Given the description of an element on the screen output the (x, y) to click on. 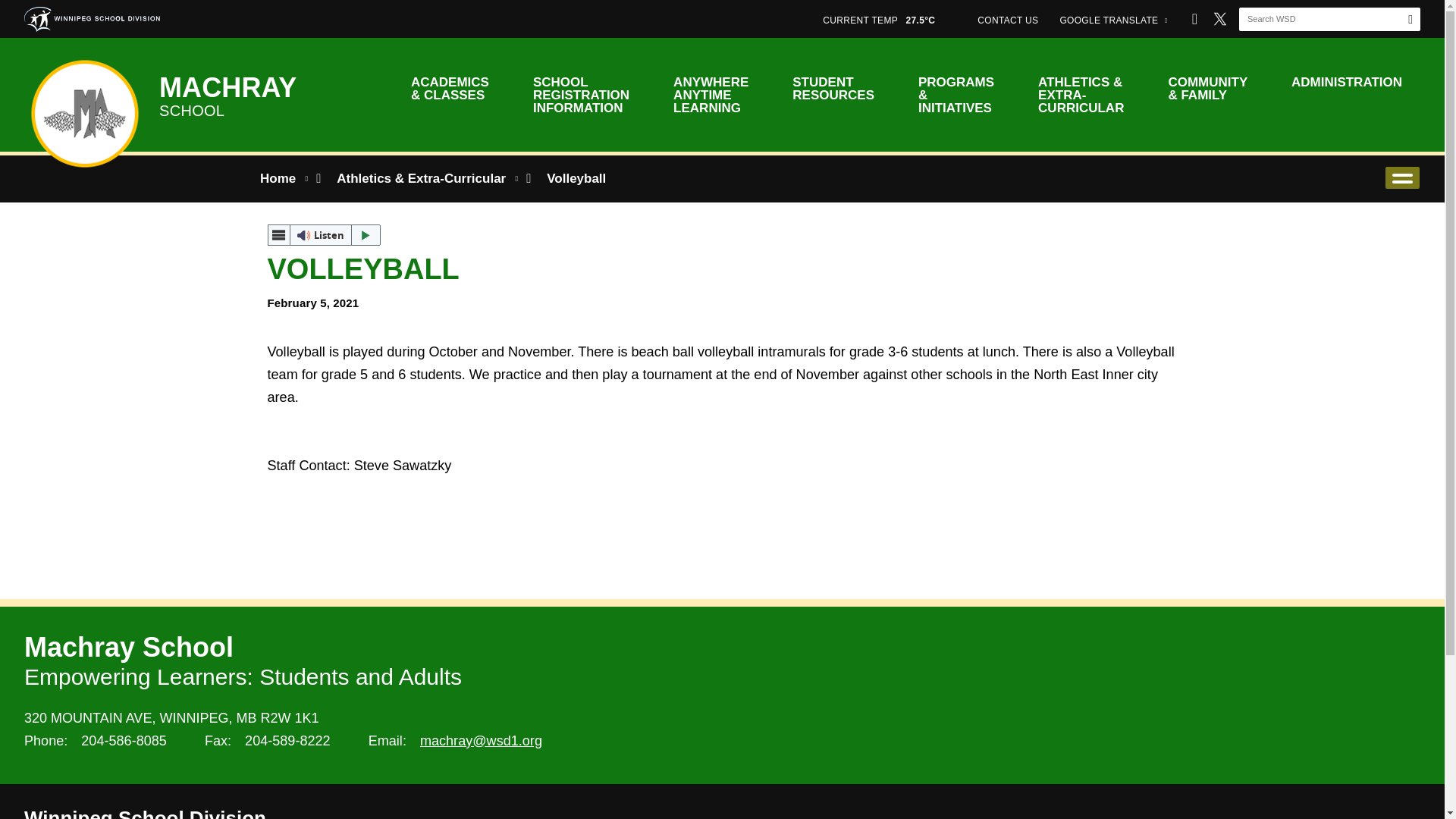
Listen to this page using ReadSpeaker webReader (323, 234)
GOOGLE TRANSLATE (1112, 18)
CONTACT US (1007, 18)
webReader menu (277, 234)
